Given the description of an element on the screen output the (x, y) to click on. 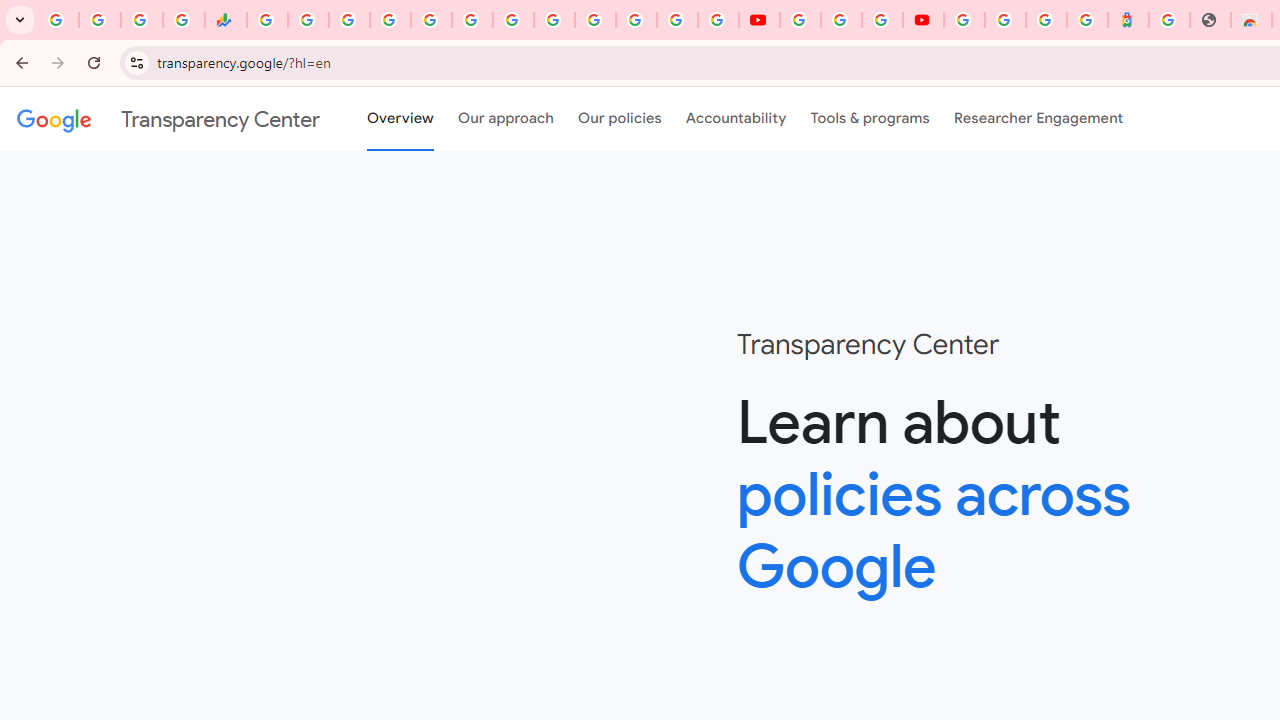
Sign in - Google Accounts (1005, 20)
Forward (57, 62)
Our policies (619, 119)
Overview (399, 119)
Transparency Center (167, 119)
YouTube (553, 20)
